Given the description of an element on the screen output the (x, y) to click on. 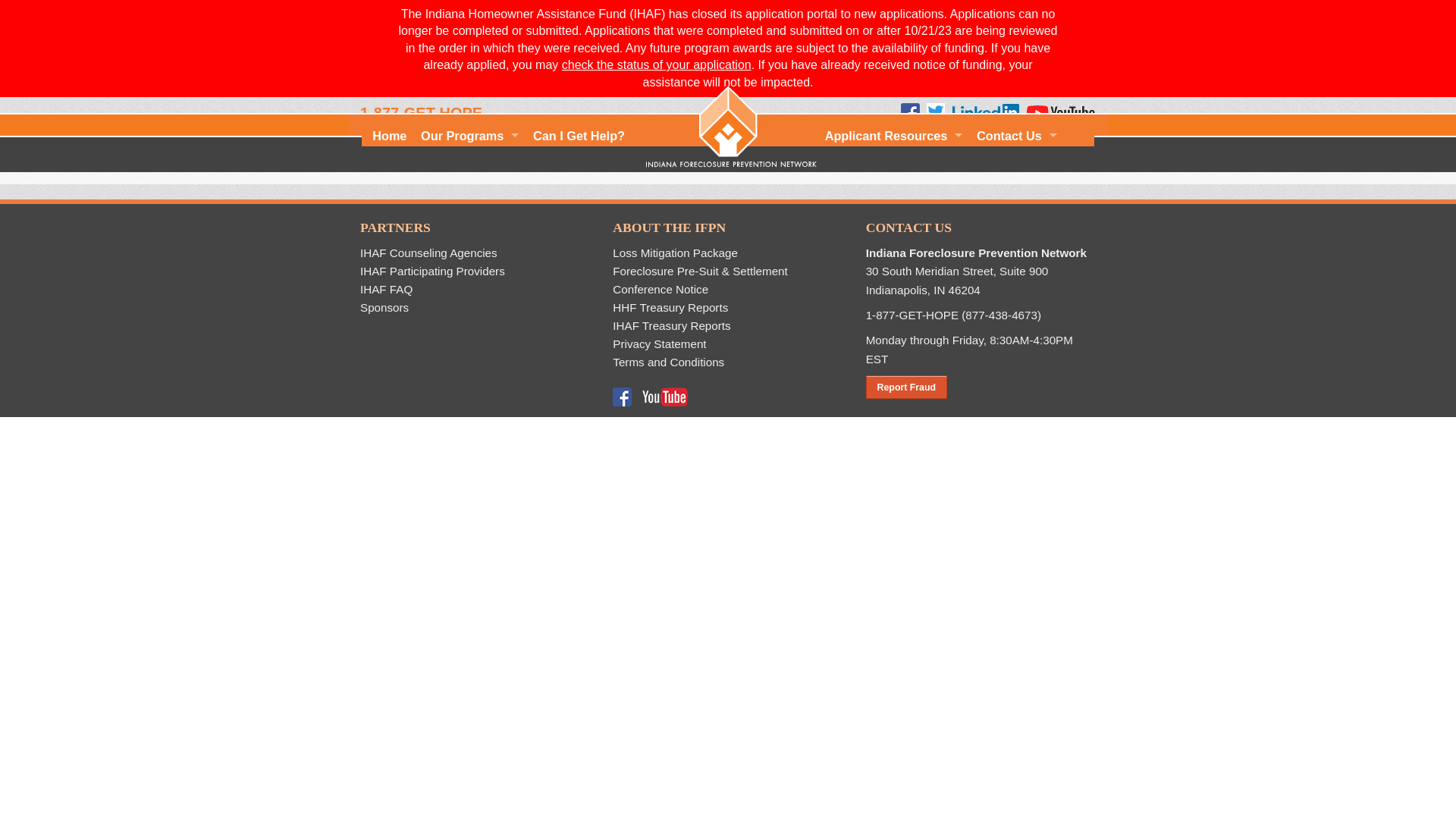
Home (389, 135)
IHAF Counseling Agencies (428, 252)
IHAF FAQ (385, 288)
Terms and Conditions (667, 361)
Report Fraud (906, 386)
HHF Treasury Reports (670, 307)
Loss Mitigation Package (675, 252)
Contact Us (1016, 135)
Can I Get Help? (578, 135)
check the status of your application (656, 64)
